Given the description of an element on the screen output the (x, y) to click on. 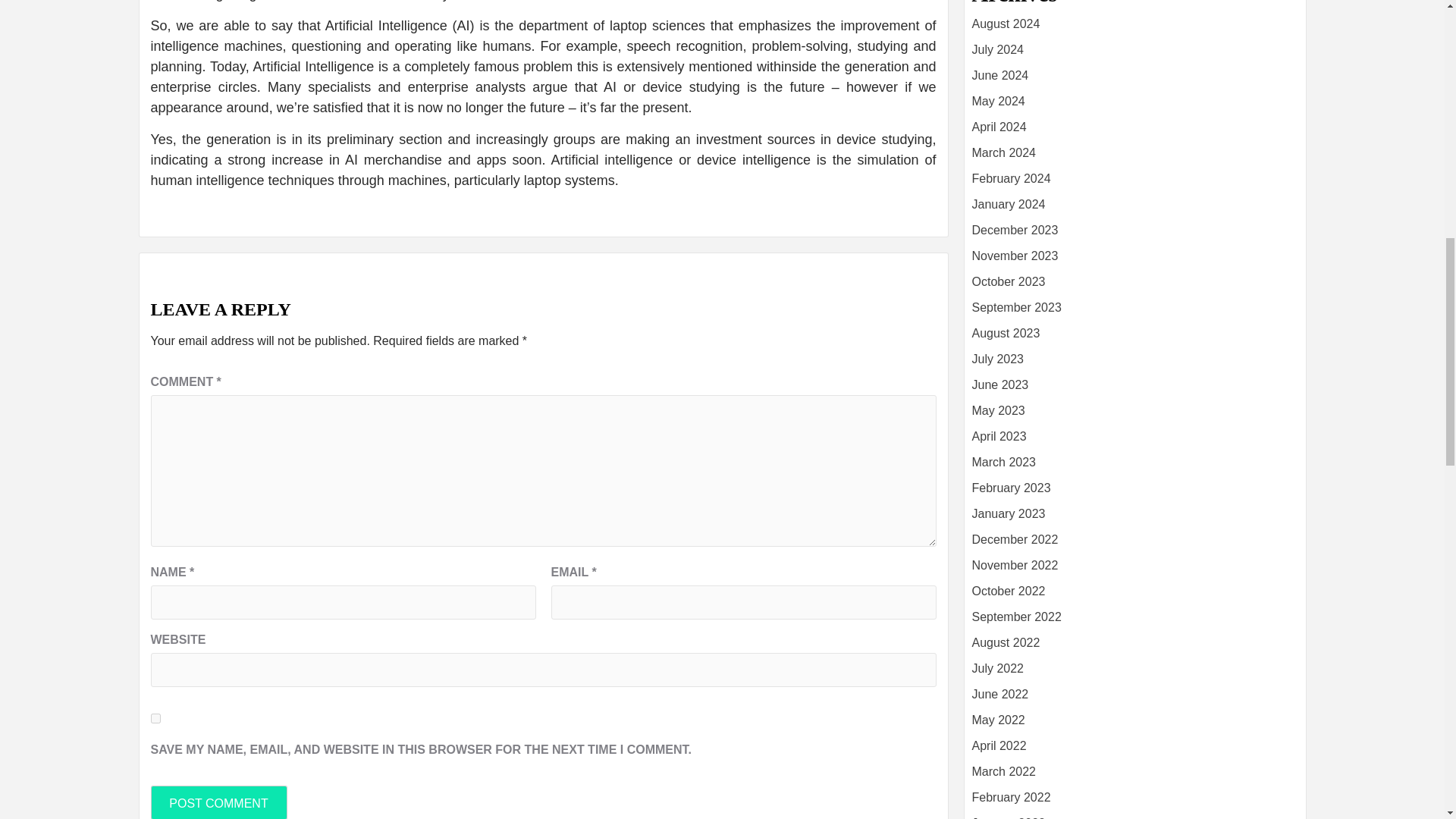
March 2024 (1004, 152)
August 2023 (1006, 332)
May 2024 (998, 101)
April 2024 (999, 126)
January 2024 (1008, 204)
October 2023 (1008, 281)
February 2023 (1011, 487)
November 2023 (1015, 255)
February 2024 (1011, 178)
August 2024 (1006, 23)
